Given the description of an element on the screen output the (x, y) to click on. 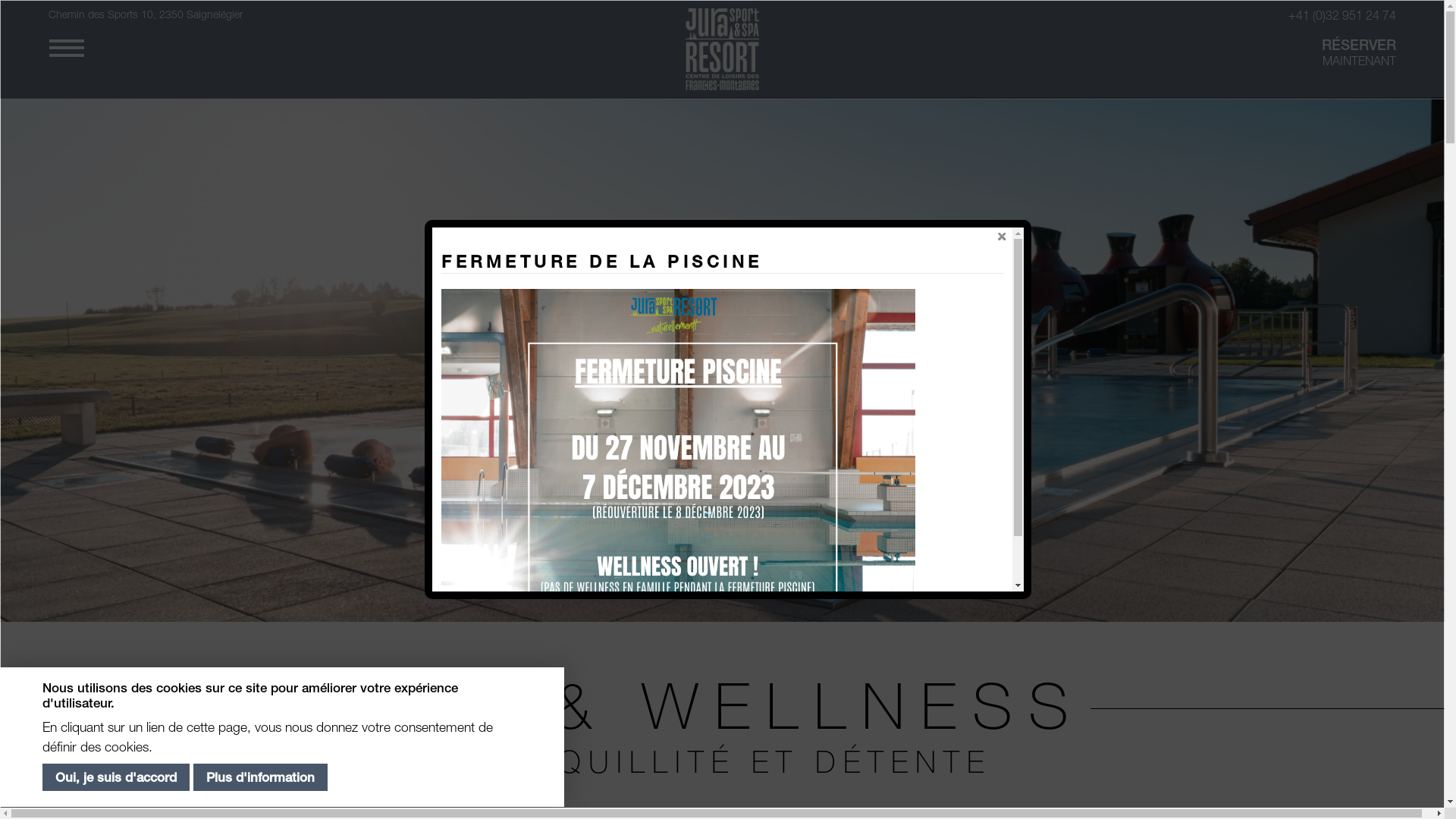
Oui, je suis d'accord Element type: text (115, 777)
Plus d'information Element type: text (260, 777)
X Element type: text (1001, 236)
+41 (0)32 951 24 74 Element type: text (1171, 15)
